Given the description of an element on the screen output the (x, y) to click on. 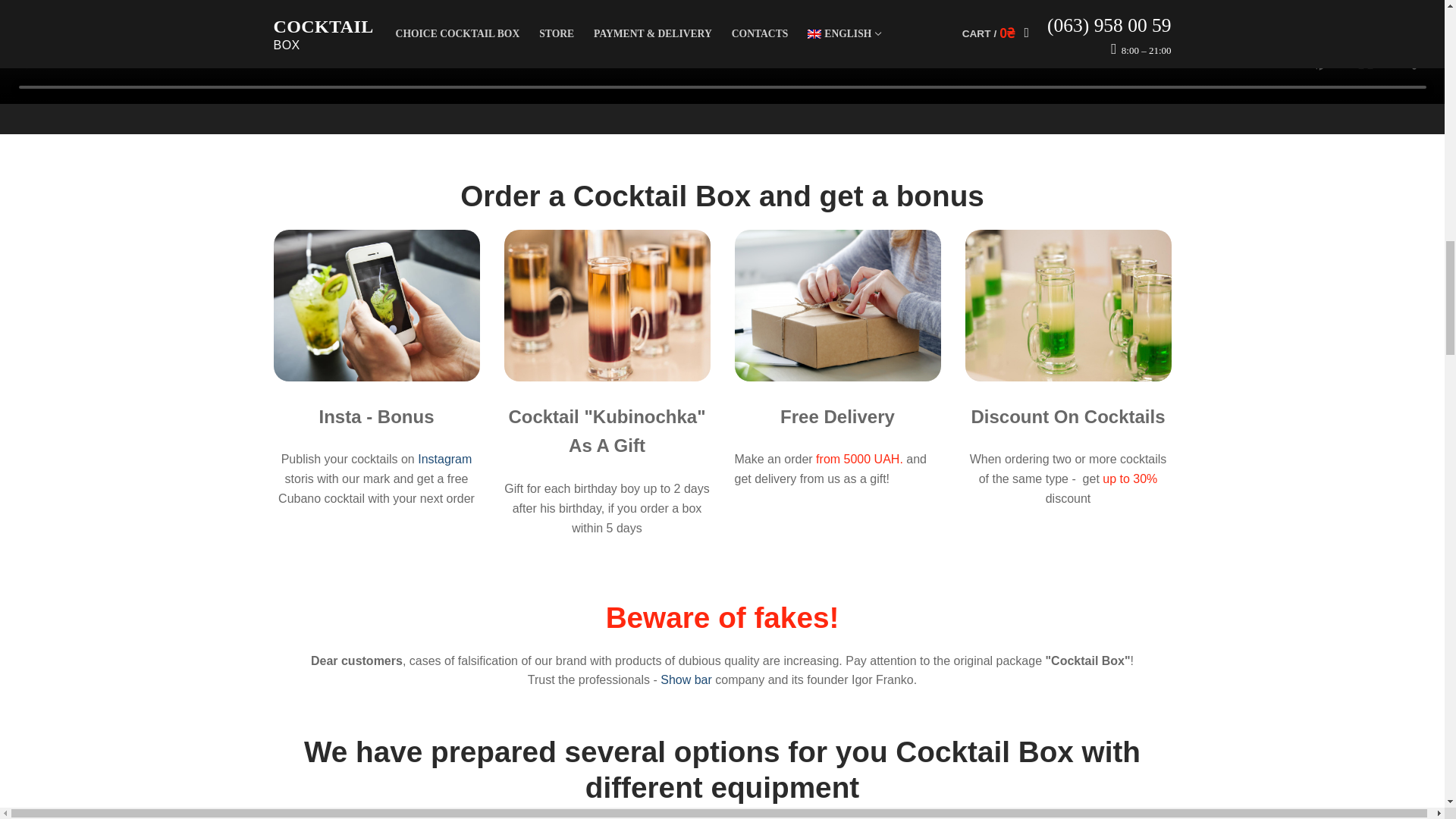
Instagram (444, 459)
Show bar (686, 679)
